Given the description of an element on the screen output the (x, y) to click on. 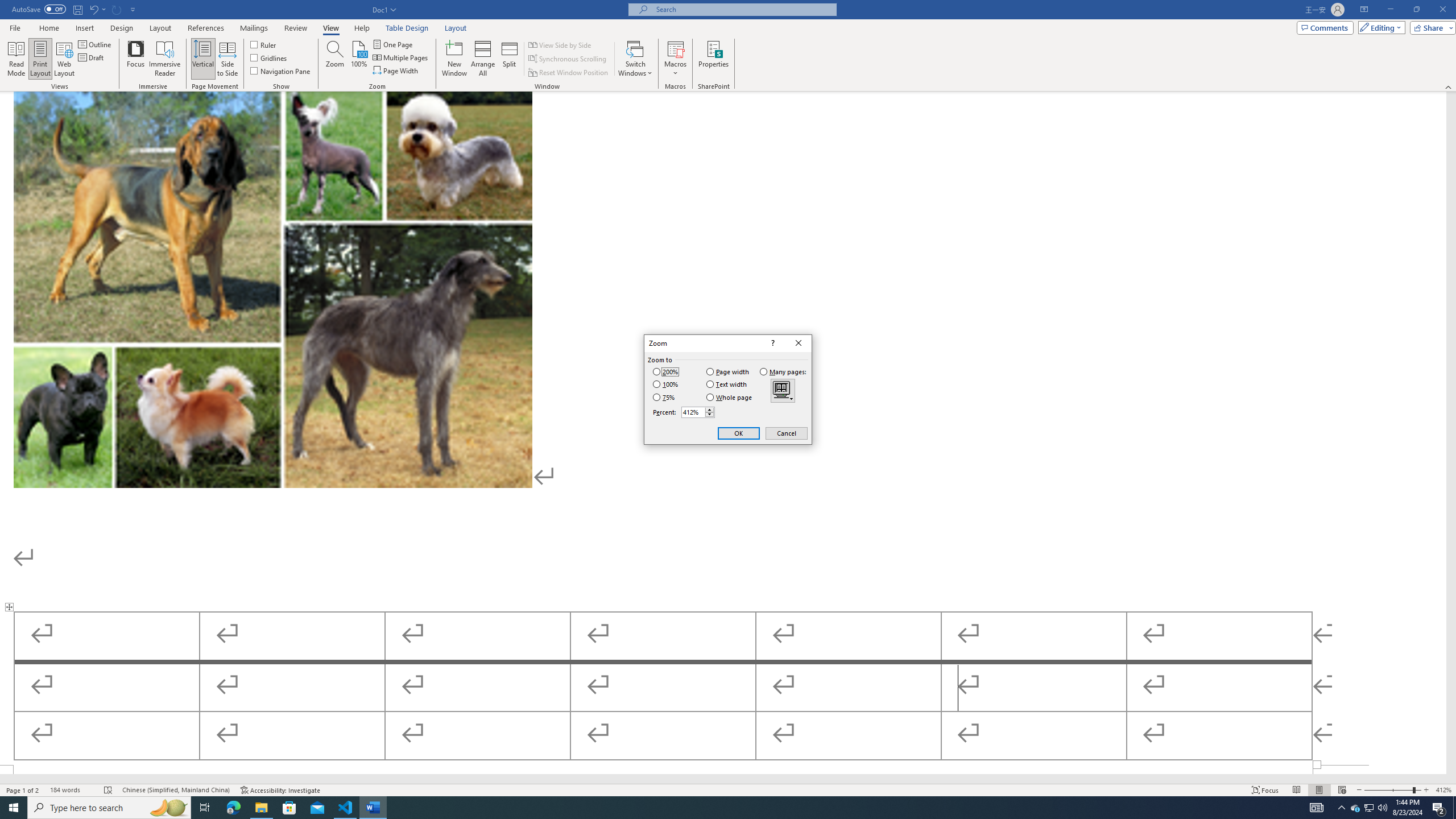
OK (738, 433)
Outline (95, 44)
Draft (91, 56)
Undo Row Height Spinner (96, 9)
Text width (727, 383)
RichEdit Control (693, 412)
Context help (771, 343)
Reset Window Position (569, 72)
